Given the description of an element on the screen output the (x, y) to click on. 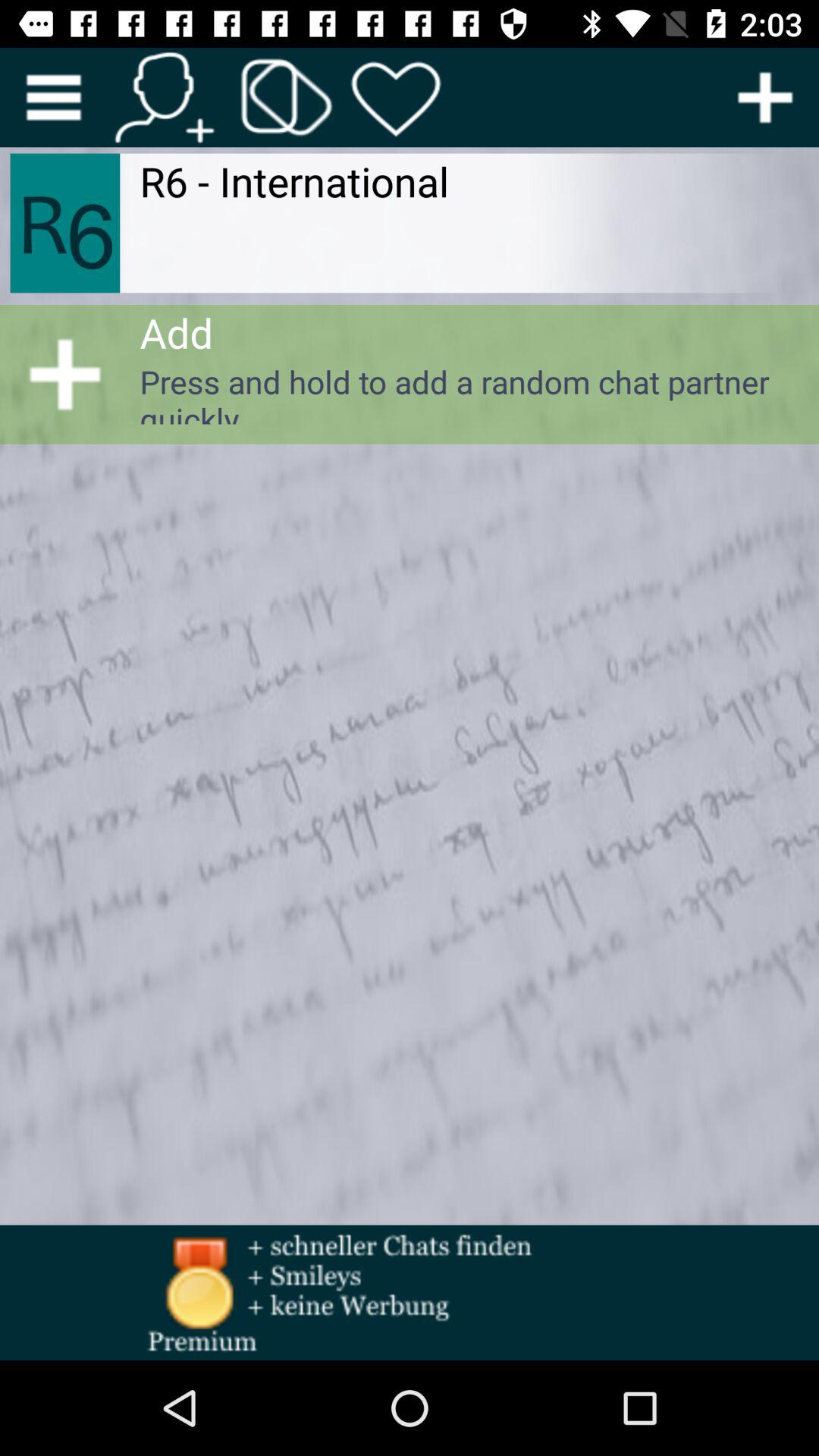
displays a list of options (53, 97)
